Given the description of an element on the screen output the (x, y) to click on. 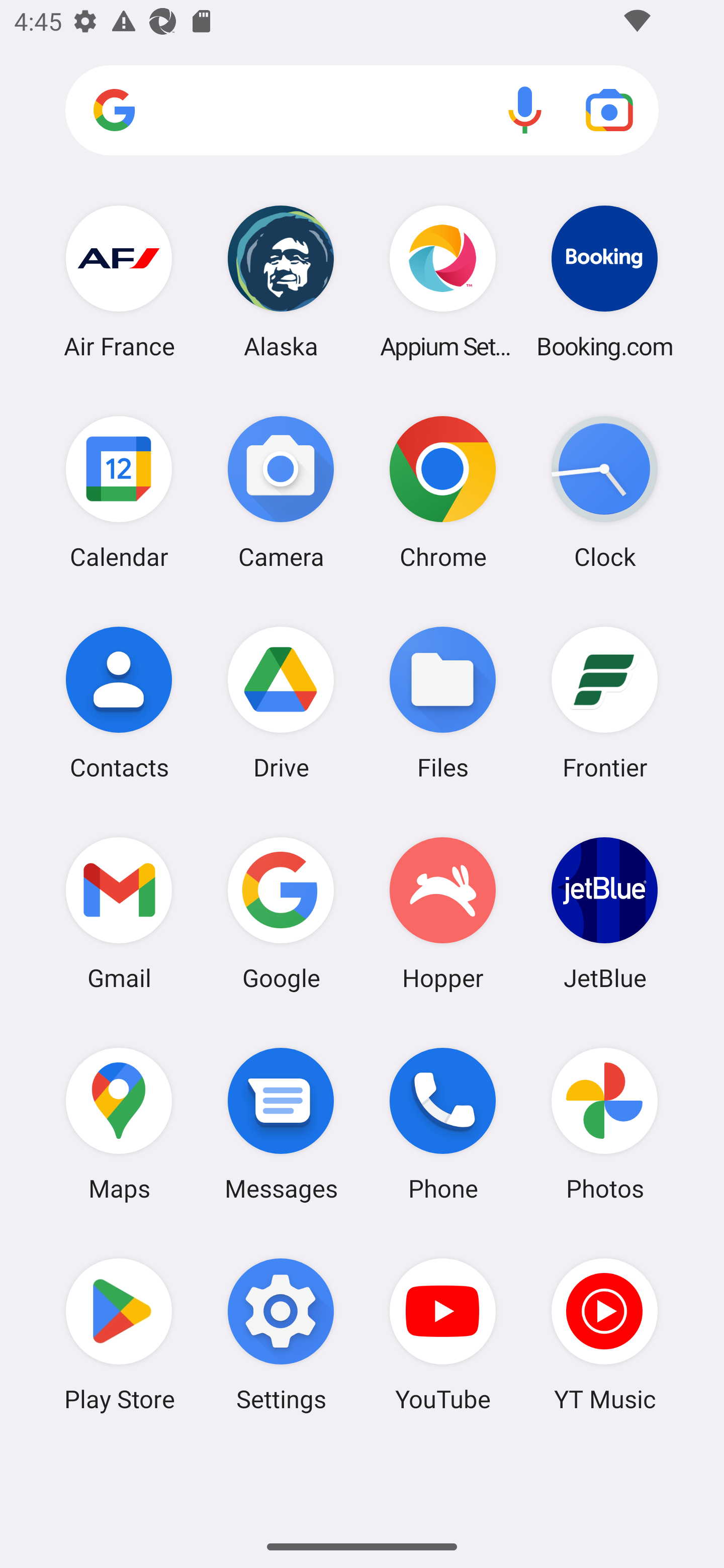
Voice search (524, 109)
Google Lens (608, 109)
Air France (118, 281)
Alaska (280, 281)
Appium Settings (443, 281)
Booking.com (604, 281)
Calendar (118, 492)
Camera (280, 492)
Chrome (443, 492)
Clock (604, 492)
Contacts (118, 702)
Drive (280, 702)
Files (443, 702)
Frontier (604, 702)
Gmail (118, 913)
Google (280, 913)
Hopper (443, 913)
JetBlue (604, 913)
Maps (118, 1124)
Messages (280, 1124)
Phone (443, 1124)
Photos (604, 1124)
Play Store (118, 1334)
Settings (280, 1334)
YouTube (443, 1334)
YT Music (604, 1334)
